Given the description of an element on the screen output the (x, y) to click on. 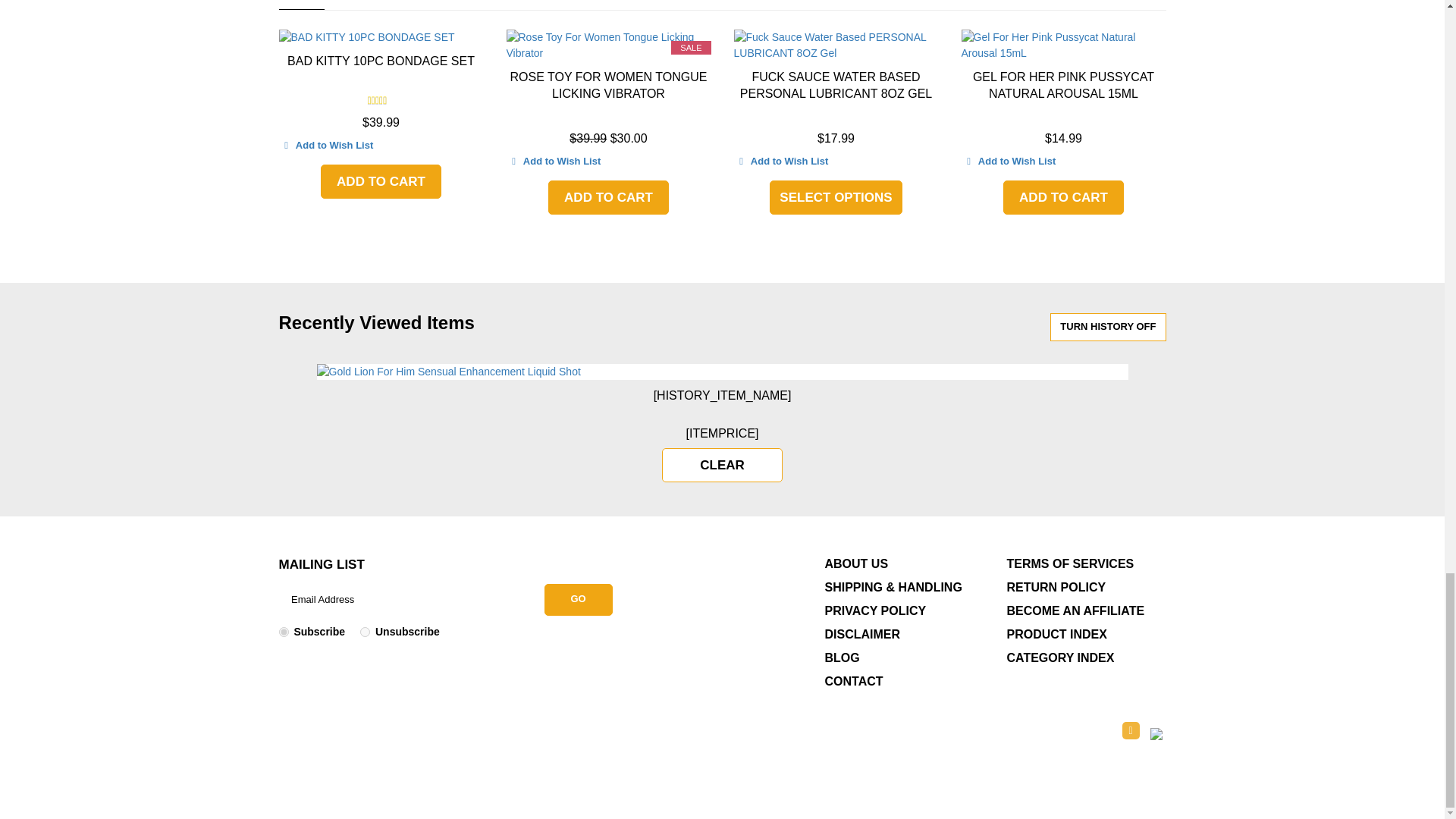
1 (283, 632)
0 (364, 632)
Like Us on Facebook (1131, 730)
